Given the description of an element on the screen output the (x, y) to click on. 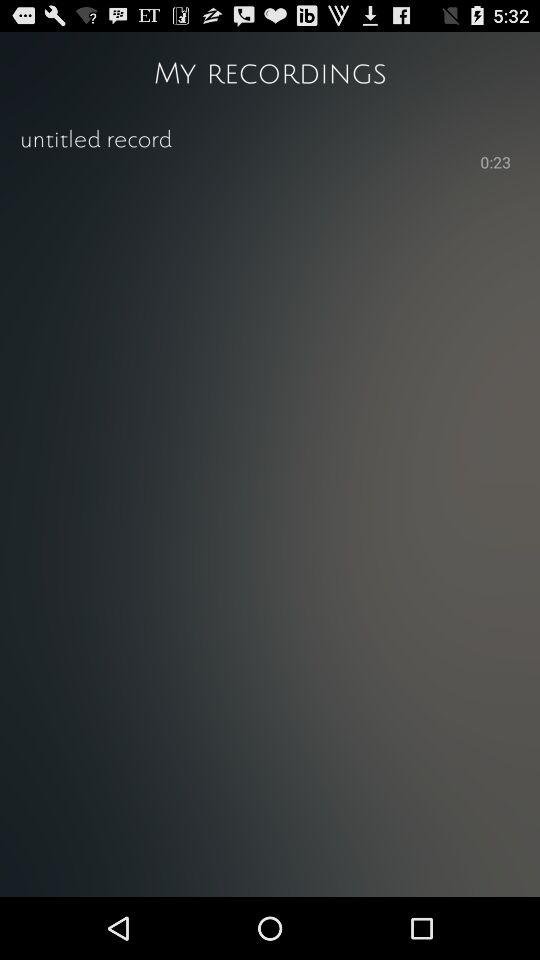
press the 0:23 (495, 163)
